Given the description of an element on the screen output the (x, y) to click on. 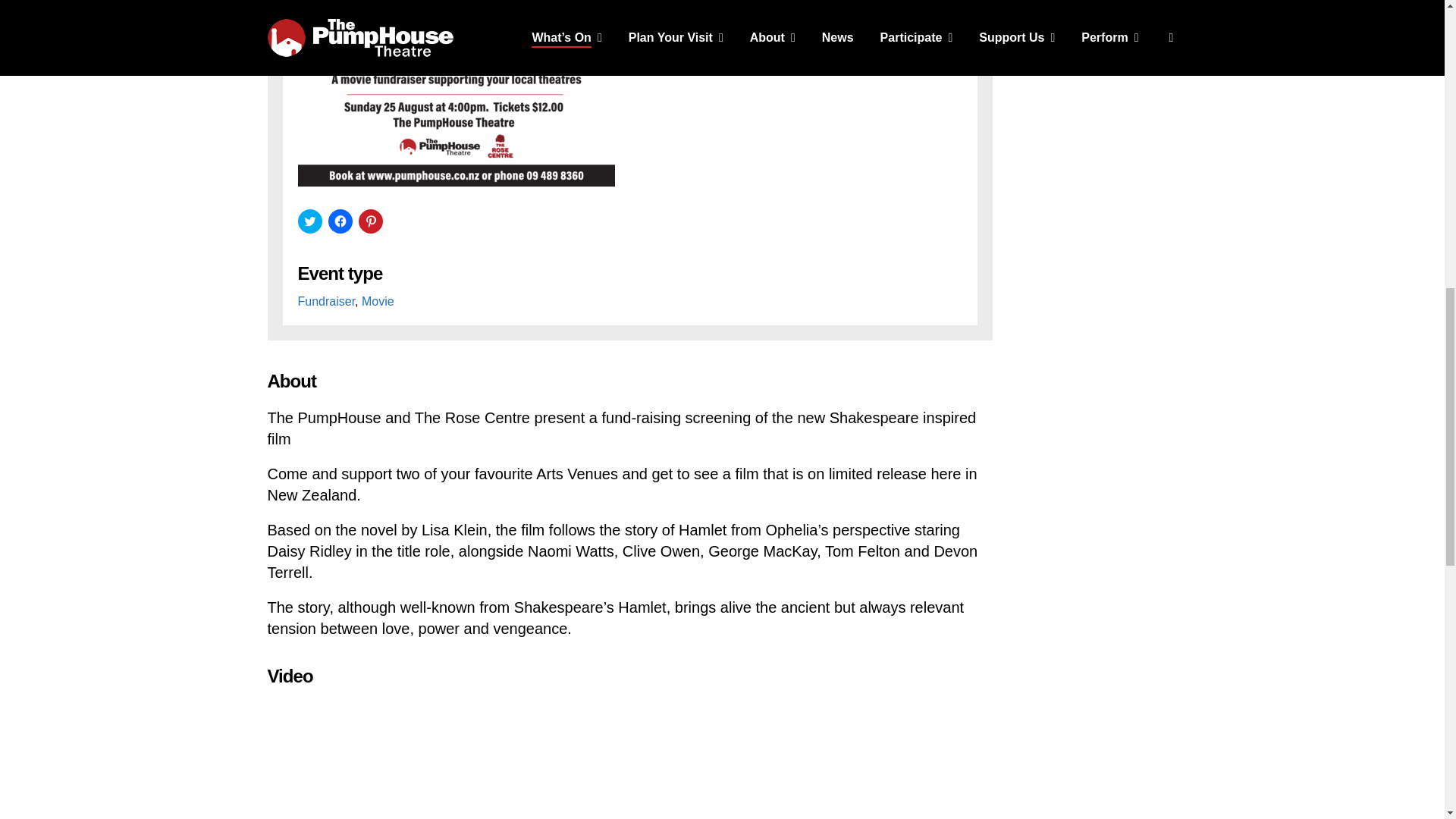
Click to share on Twitter (309, 221)
Click to share on Pinterest (369, 221)
Click to share on Facebook (339, 221)
